Given the description of an element on the screen output the (x, y) to click on. 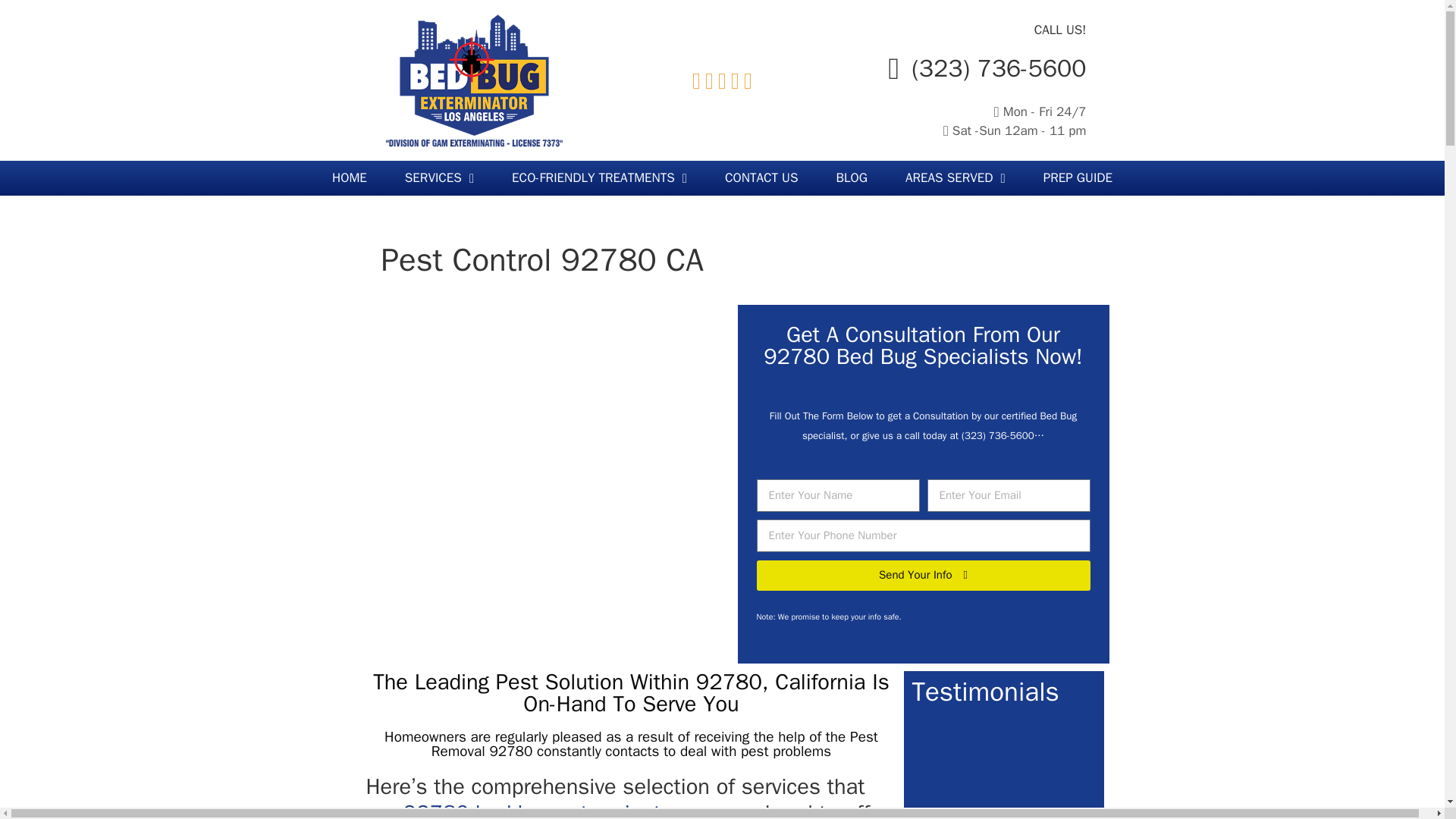
AREAS SERVED (955, 177)
HOME (349, 177)
SERVICES (439, 177)
BLOG (851, 177)
ECO-FRIENDLY TREATMENTS (599, 177)
CONTACT US (761, 177)
